Given the description of an element on the screen output the (x, y) to click on. 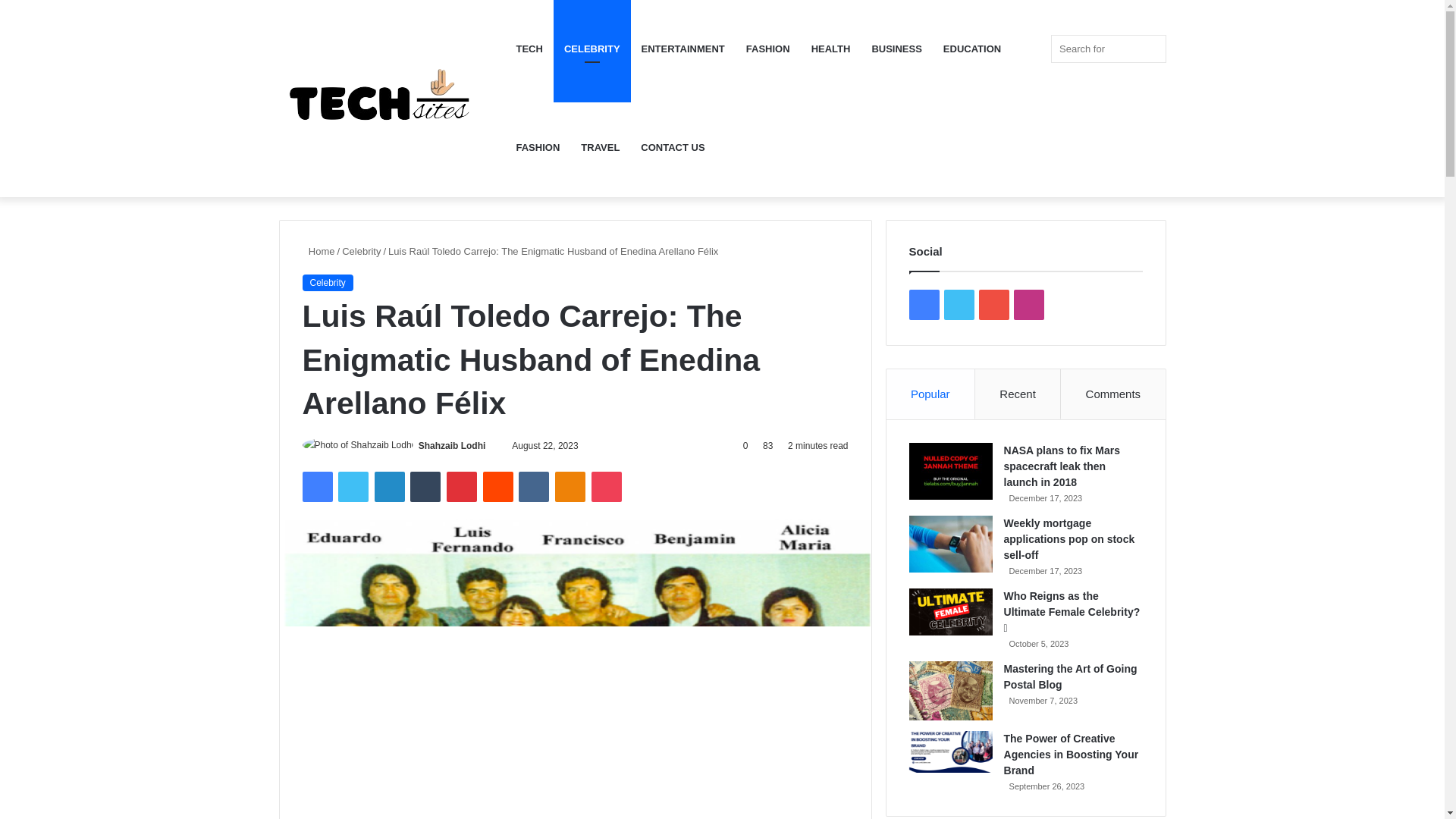
Pinterest (461, 486)
LinkedIn (389, 486)
Celebrity (361, 251)
Twitter (352, 486)
Facebook (316, 486)
ENTERTAINMENT (682, 49)
Shahzaib Lodhi (452, 445)
Pinterest (461, 486)
Tech2Sites (392, 98)
Facebook (316, 486)
